Given the description of an element on the screen output the (x, y) to click on. 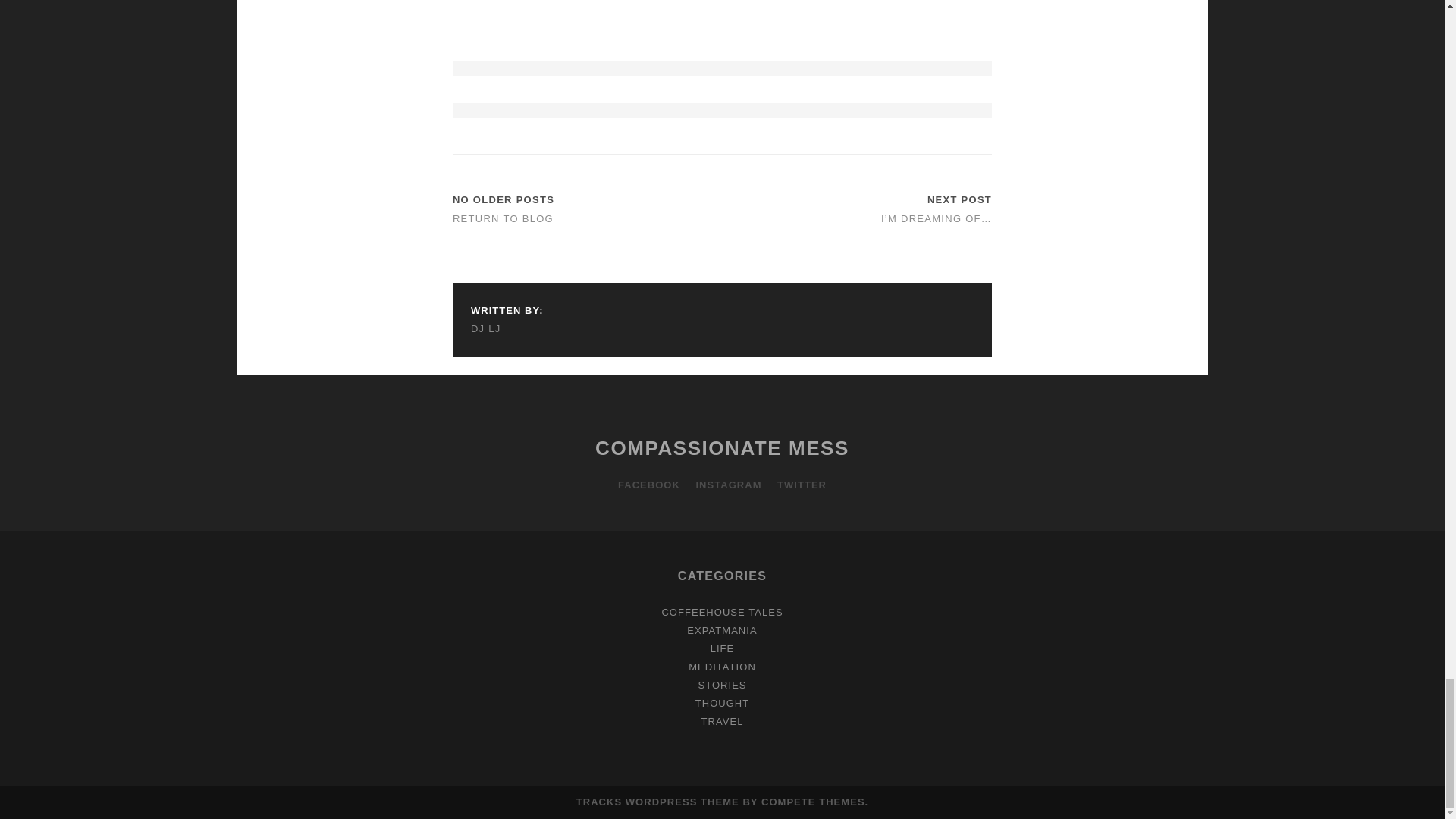
LIFE (722, 648)
EXPATMANIA (722, 630)
COFFEEHOUSE TALES (722, 612)
RETURN TO BLOG (502, 218)
FACEBOOK (648, 484)
COMPASSIONATE MESS (721, 447)
DJ LJ (506, 329)
INSTAGRAM (728, 484)
TWITTER (802, 484)
Posts by DJ LJ (506, 329)
